Given the description of an element on the screen output the (x, y) to click on. 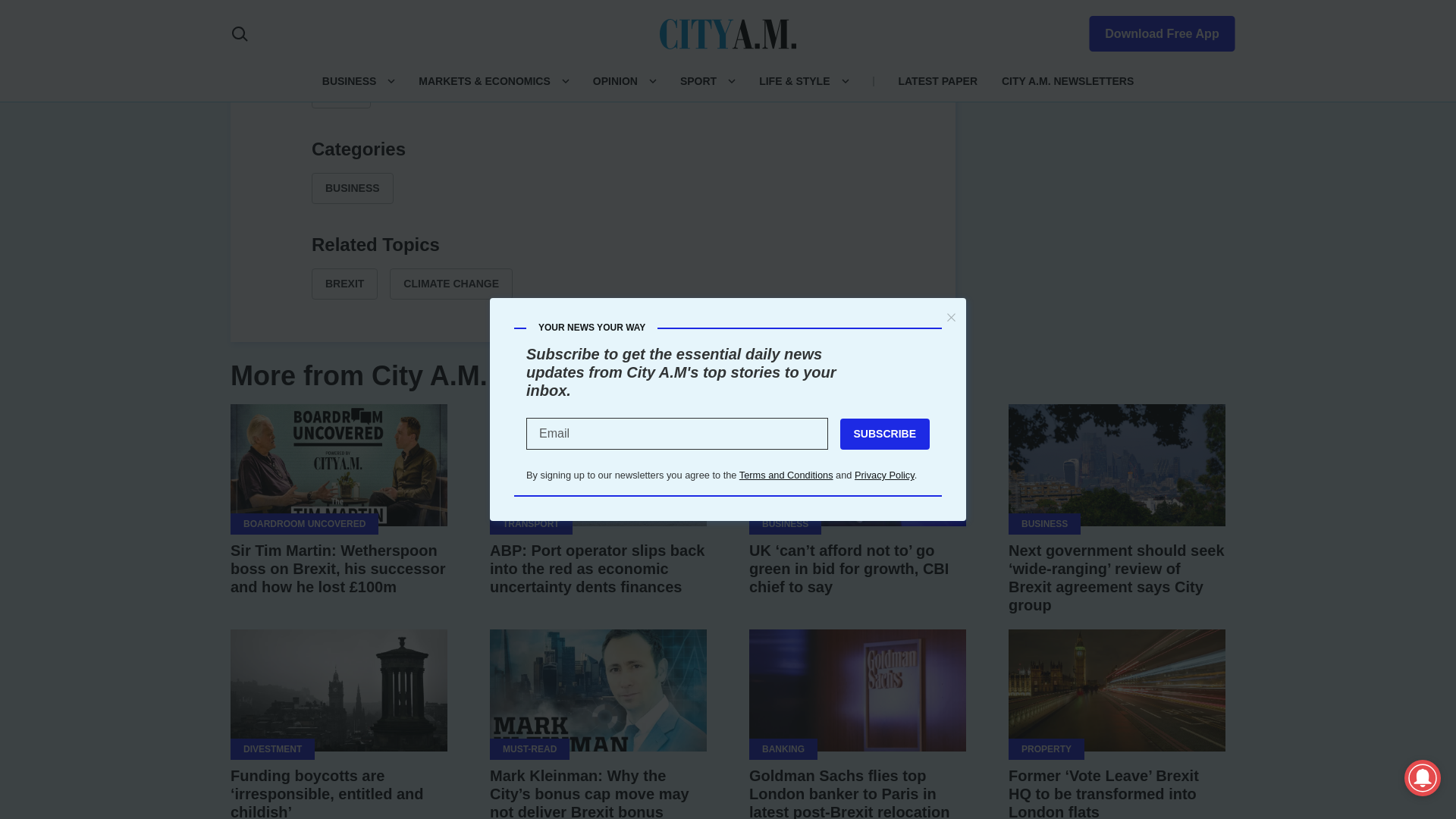
LinkedIn (592, 8)
X (556, 8)
Email (665, 8)
Facebook (520, 8)
WhatsApp (629, 8)
